Given the description of an element on the screen output the (x, y) to click on. 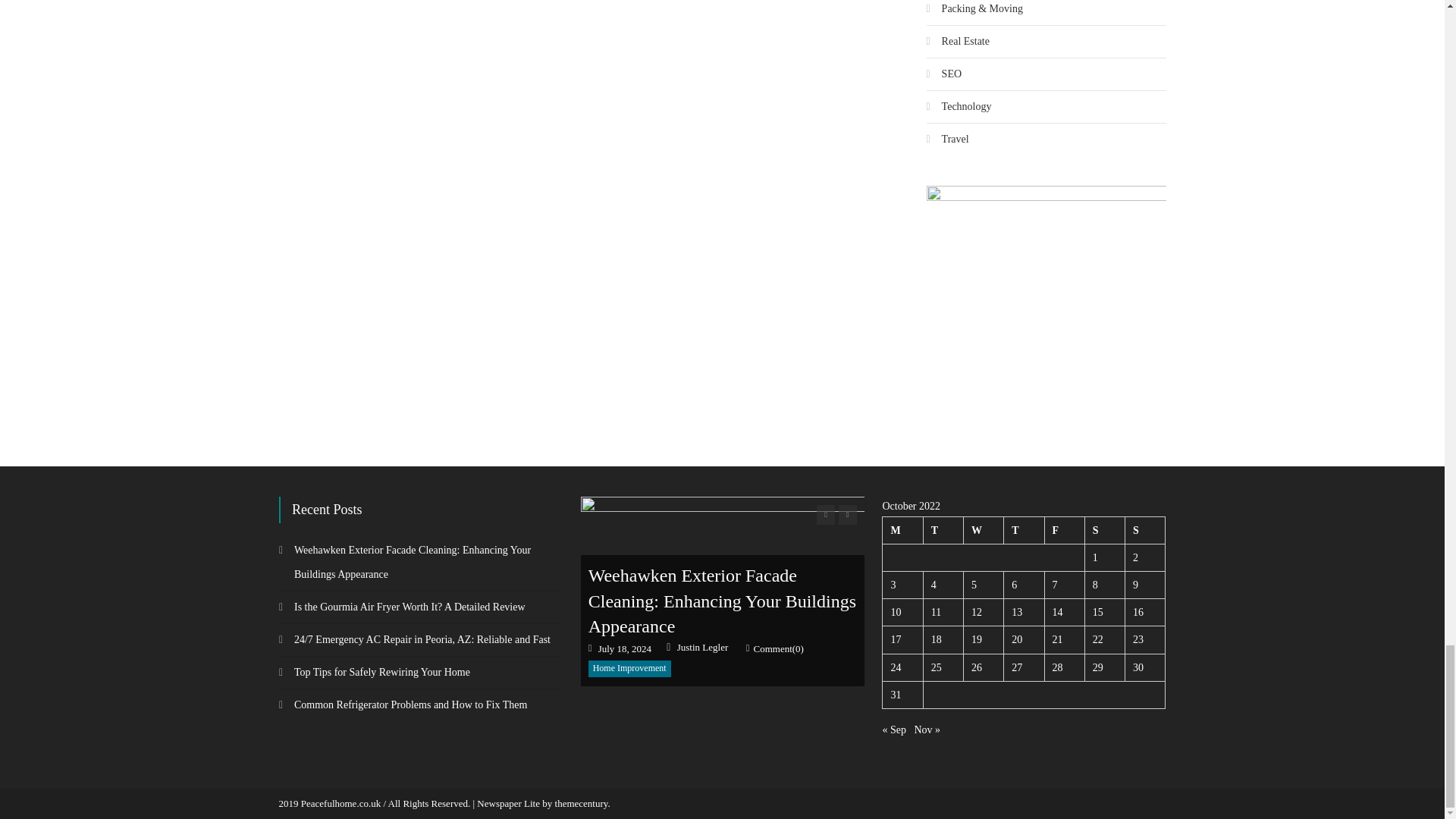
Monday (902, 529)
Wednesday (982, 529)
Tuesday (942, 529)
